Given the description of an element on the screen output the (x, y) to click on. 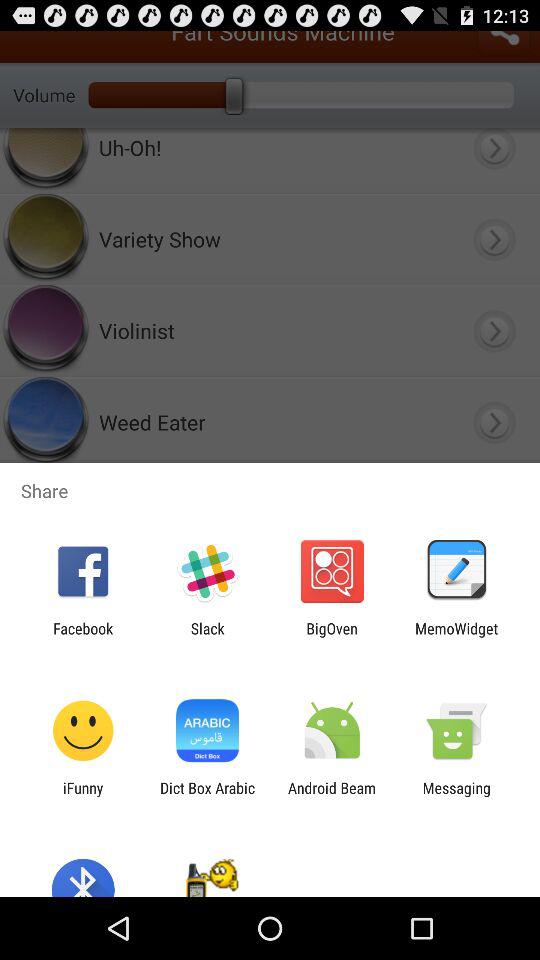
turn on the dict box arabic icon (207, 796)
